Given the description of an element on the screen output the (x, y) to click on. 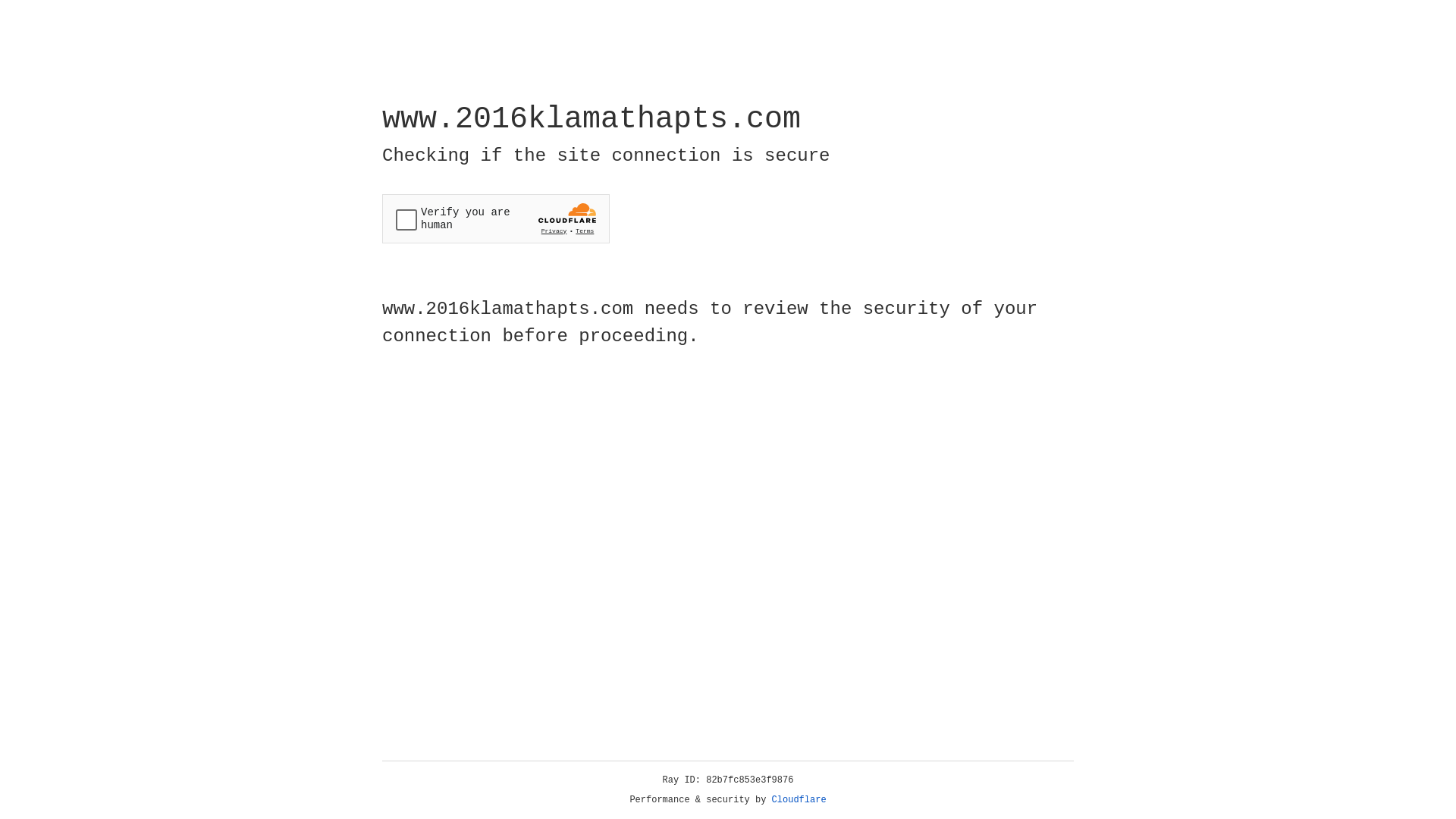
Cloudflare Element type: text (798, 799)
Widget containing a Cloudflare security challenge Element type: hover (495, 218)
